Given the description of an element on the screen output the (x, y) to click on. 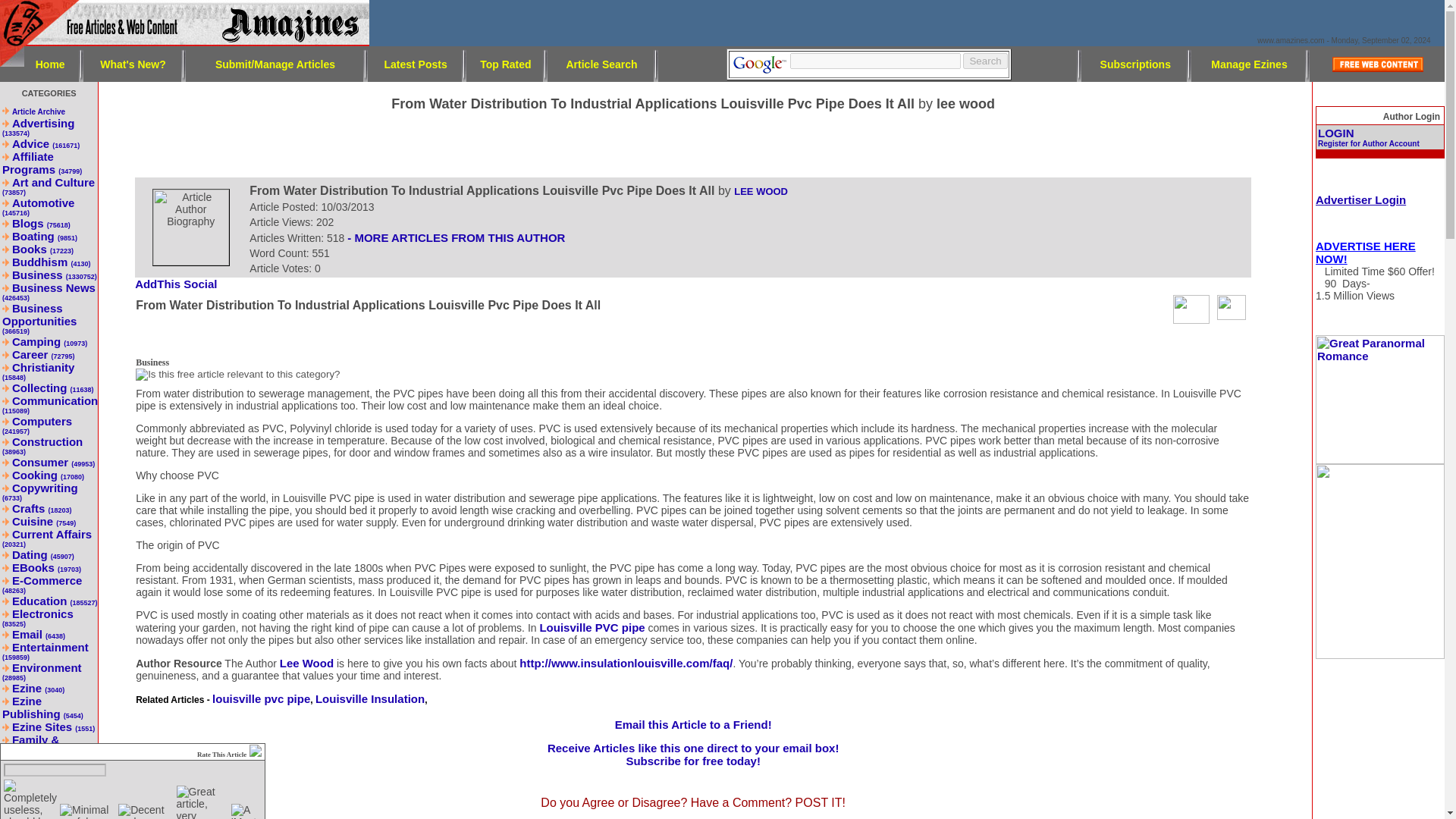
Manage Ezines (1249, 63)
Search (984, 60)
Bookmark using any bookmark manager! (182, 285)
What's New? (132, 63)
Article Archive (38, 110)
Top Rated (505, 63)
Latest Posts (415, 63)
Search (984, 60)
Subscriptions (1135, 63)
Home (49, 63)
